Given the description of an element on the screen output the (x, y) to click on. 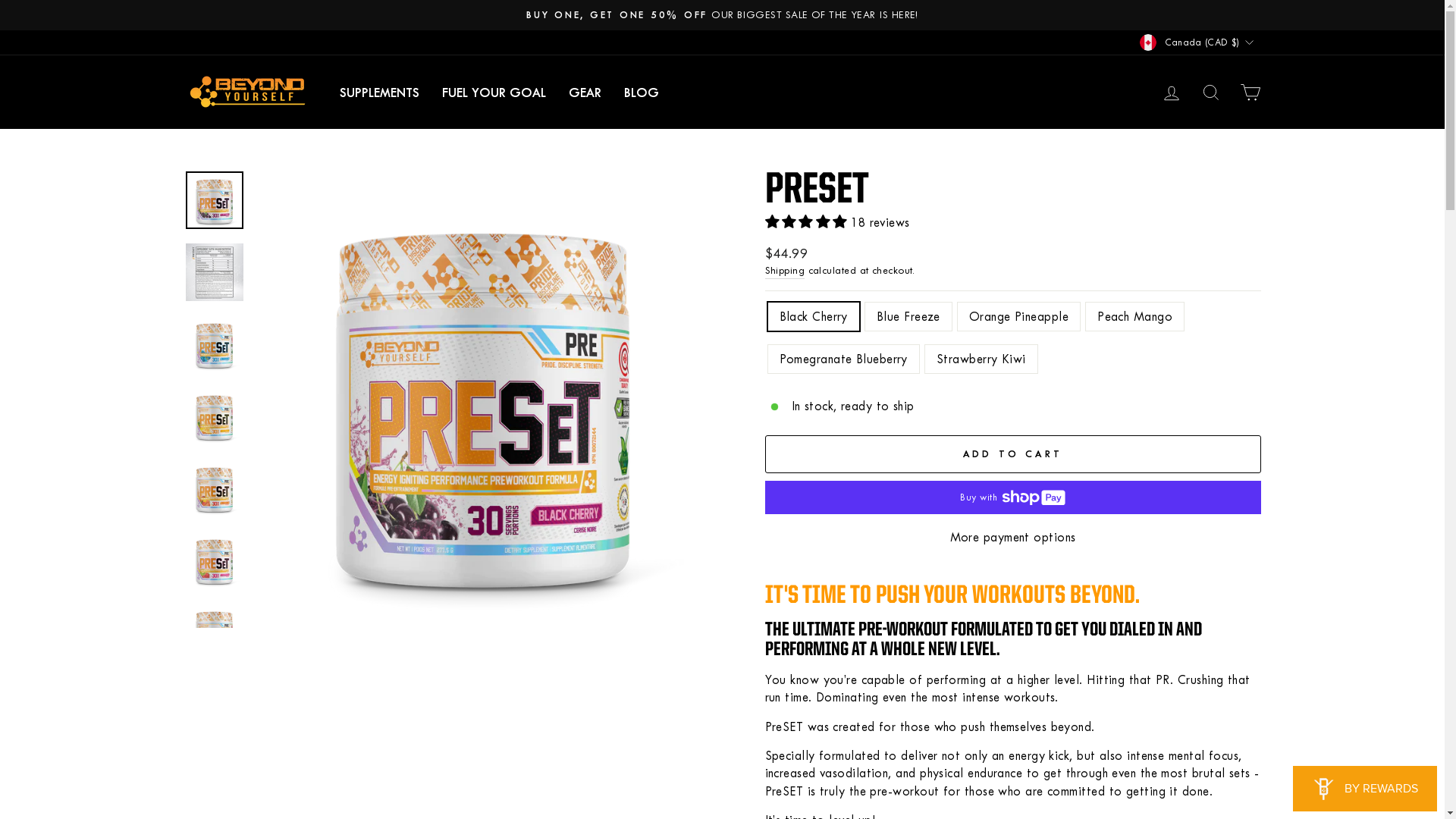
ADD TO CART Element type: text (1012, 454)
More payment options Element type: text (1012, 536)
GEAR Element type: text (583, 91)
Canada (CAD $) Element type: text (1197, 42)
FUEL YOUR GOAL Element type: text (493, 91)
Skip to content Element type: text (0, 0)
CART Element type: text (1249, 91)
Shipping Element type: text (784, 271)
Smile.io Rewards Program Launcher Element type: hover (1364, 788)
500+ BEYOND REVIEWSSee what people are saying. Element type: text (722, 14)
SEARCH Element type: text (1210, 91)
BLOG Element type: text (641, 91)
LOG IN Element type: text (1170, 91)
SUPPLEMENTS Element type: text (378, 91)
